Given the description of an element on the screen output the (x, y) to click on. 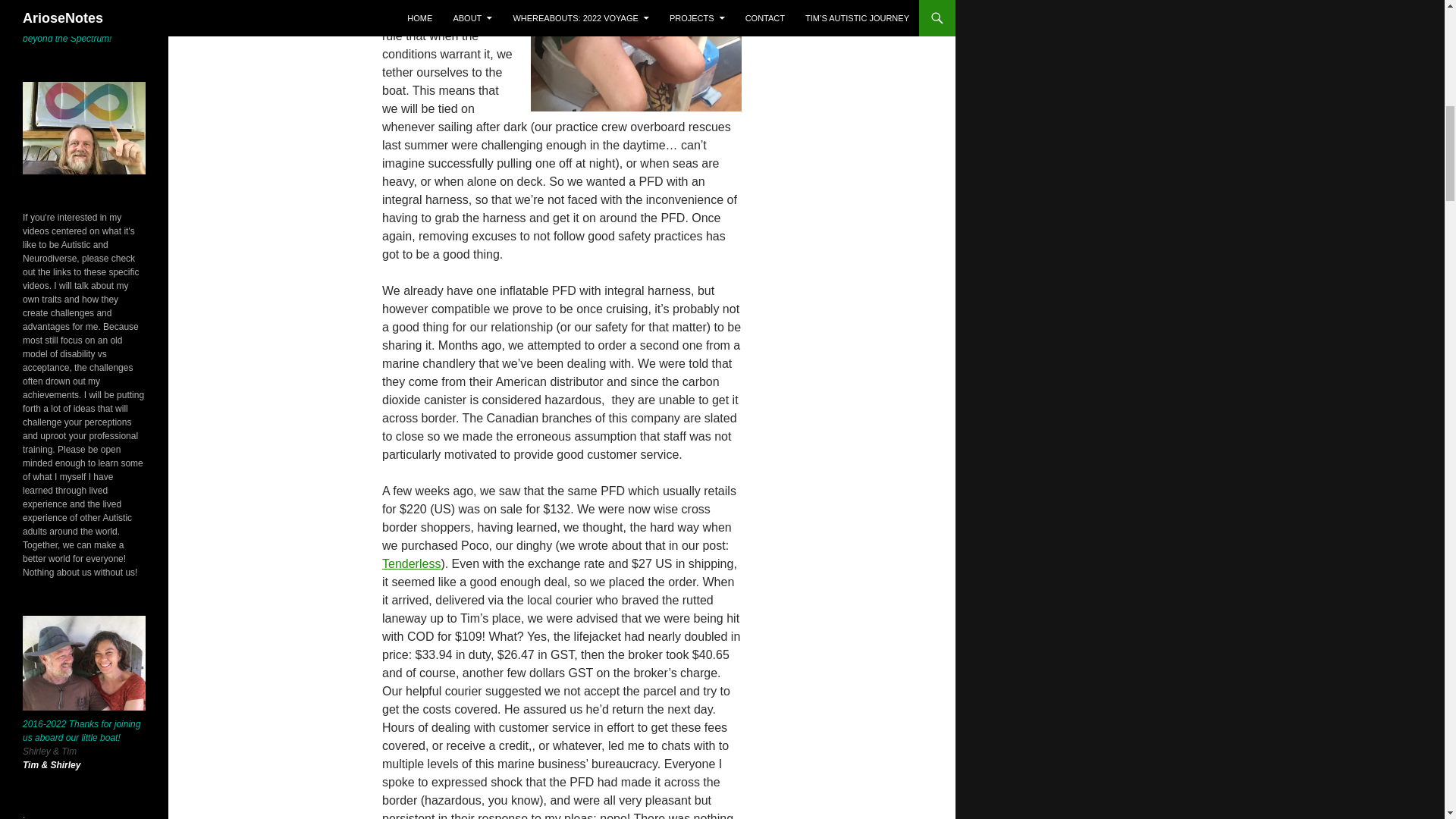
Tenderless (411, 563)
